Given the description of an element on the screen output the (x, y) to click on. 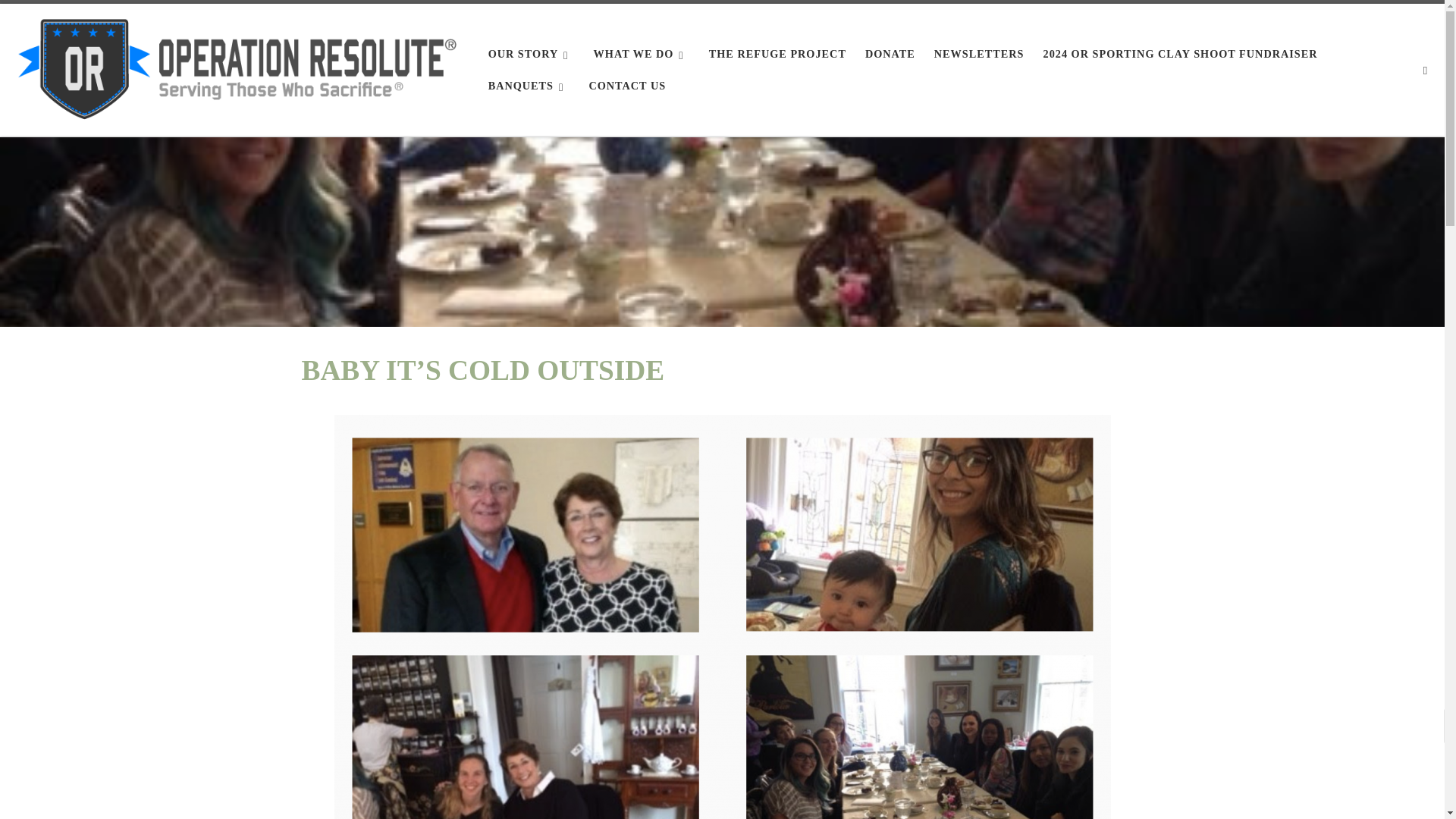
WHAT WE DO (641, 53)
2024 OR SPORTING CLAY SHOOT FUNDRAISER (1180, 53)
DONATE (890, 53)
Skip to content (60, 20)
THE REFUGE PROJECT (777, 53)
BANQUETS (528, 85)
NEWSLETTERS (979, 53)
CONTACT US (626, 85)
OUR STORY (530, 53)
